Given the description of an element on the screen output the (x, y) to click on. 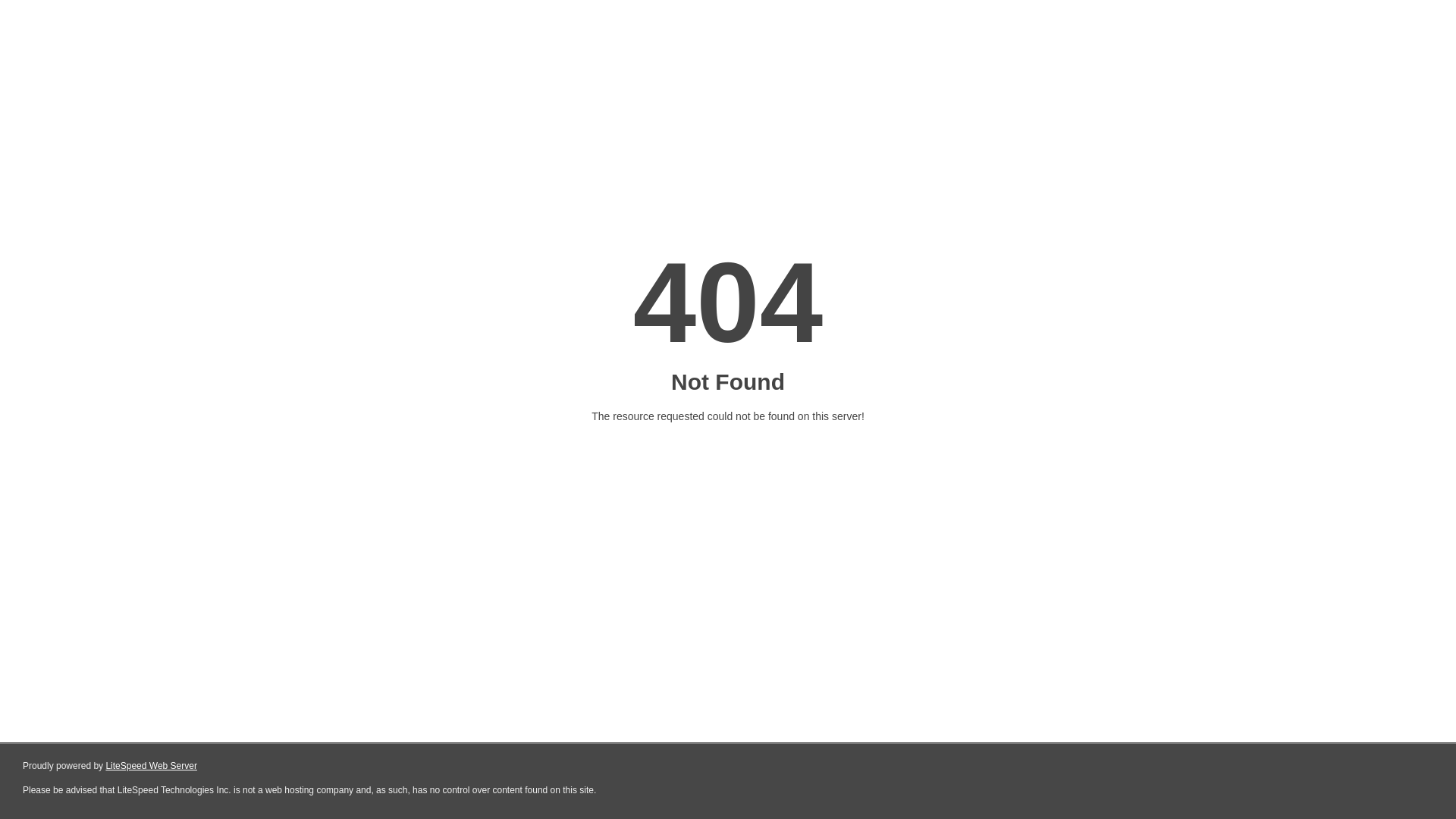
LiteSpeed Web Server Element type: text (151, 765)
